Given the description of an element on the screen output the (x, y) to click on. 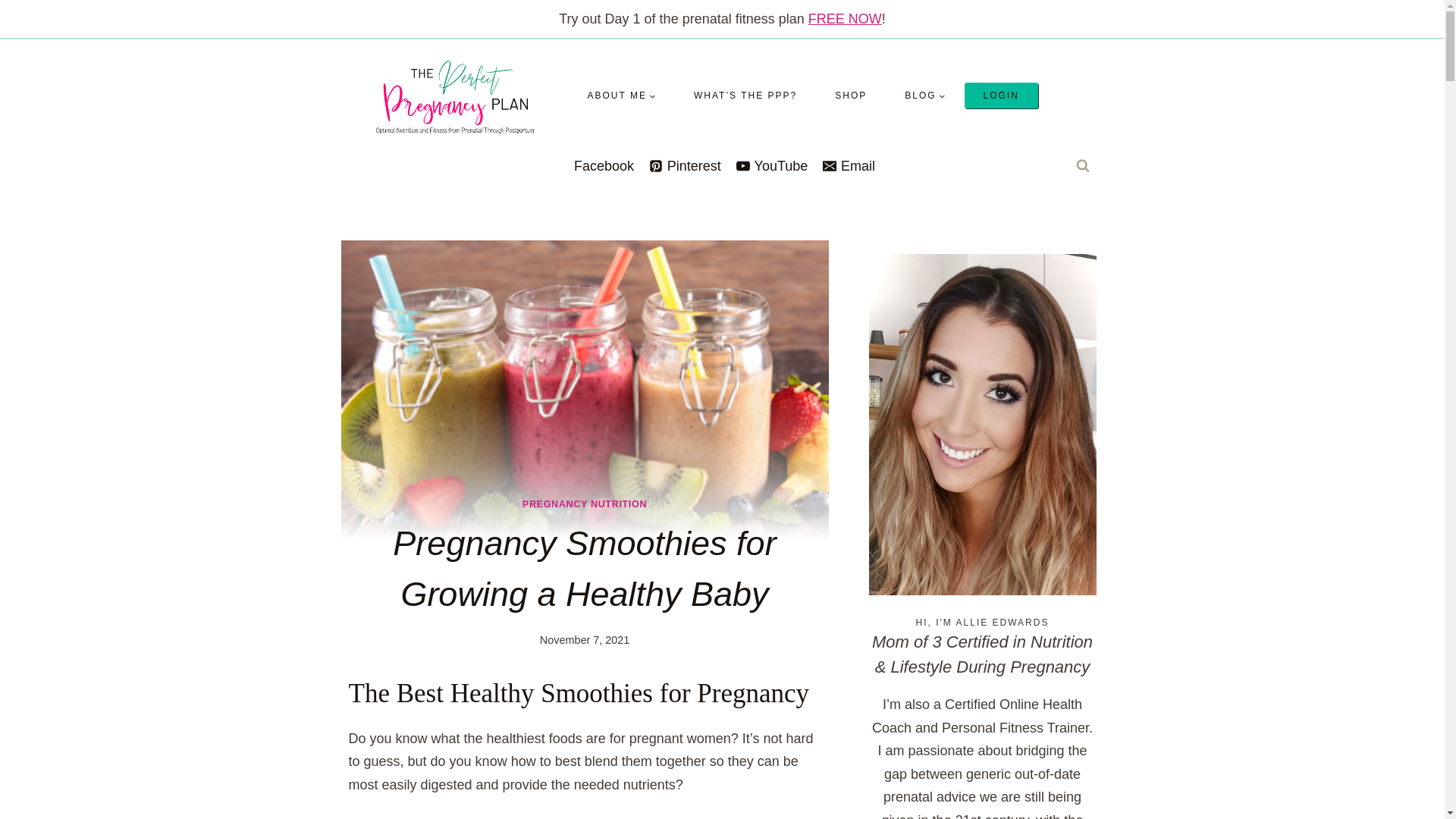
PREGNANCY NUTRITION (584, 503)
Facebook (601, 166)
Pinterest (684, 165)
LOGIN (1000, 95)
SHOP (850, 95)
YouTube (771, 165)
ABOUT ME (622, 95)
FREE NOW (845, 18)
Email (848, 165)
BLOG (924, 95)
